Given the description of an element on the screen output the (x, y) to click on. 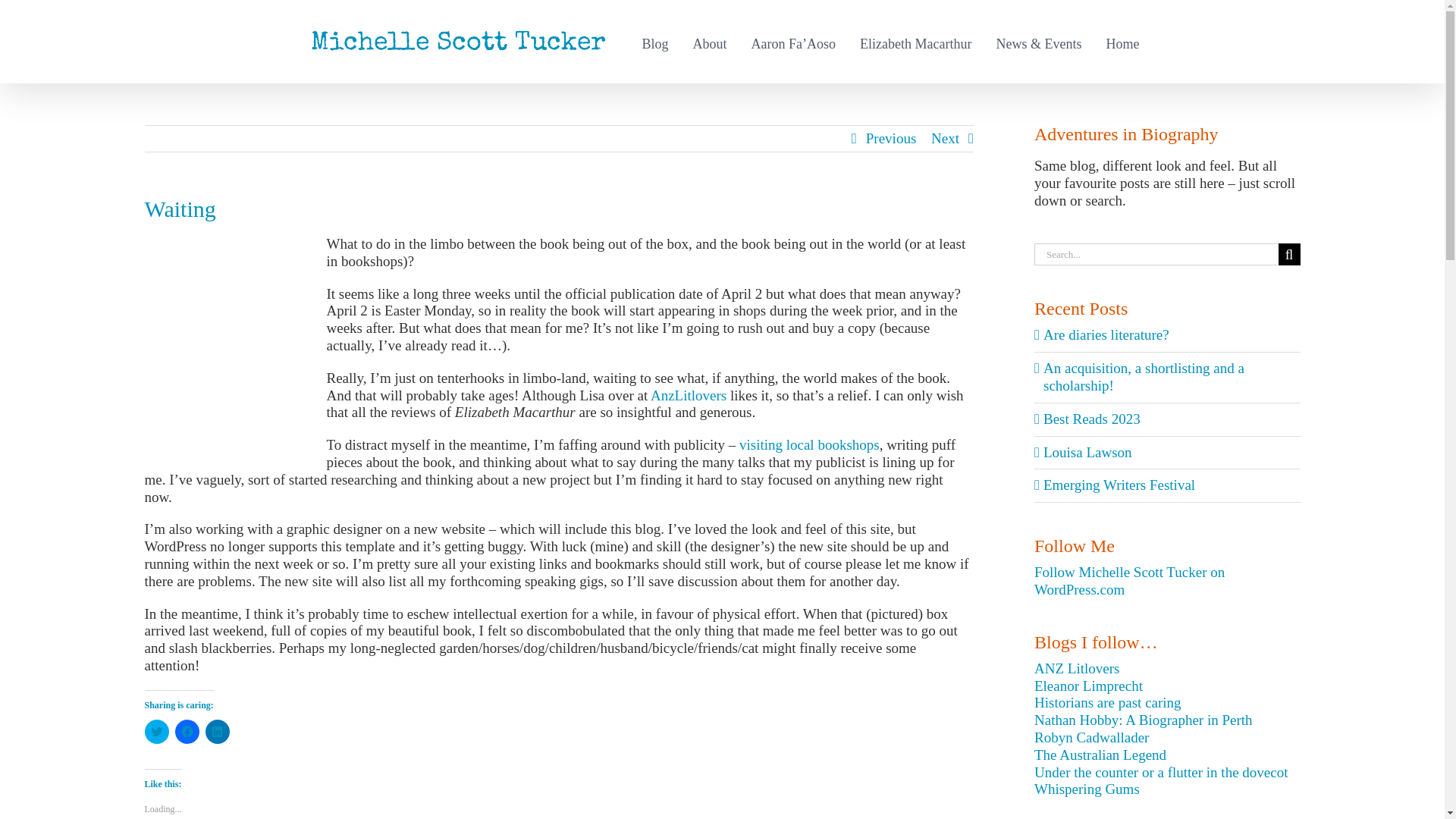
visiting local bookshops (809, 444)
Click to share on Twitter (156, 731)
Next (945, 138)
Click to share on Facebook (186, 731)
Previous (891, 138)
AnzLitlovers (688, 395)
Click to share on LinkedIn (216, 731)
Elizabeth Macarthur (915, 41)
A writer, constant reader, PhD student and mother-of-two (1087, 685)
The Independent Woman and the myth of the Australian bushman (1099, 754)
